Given the description of an element on the screen output the (x, y) to click on. 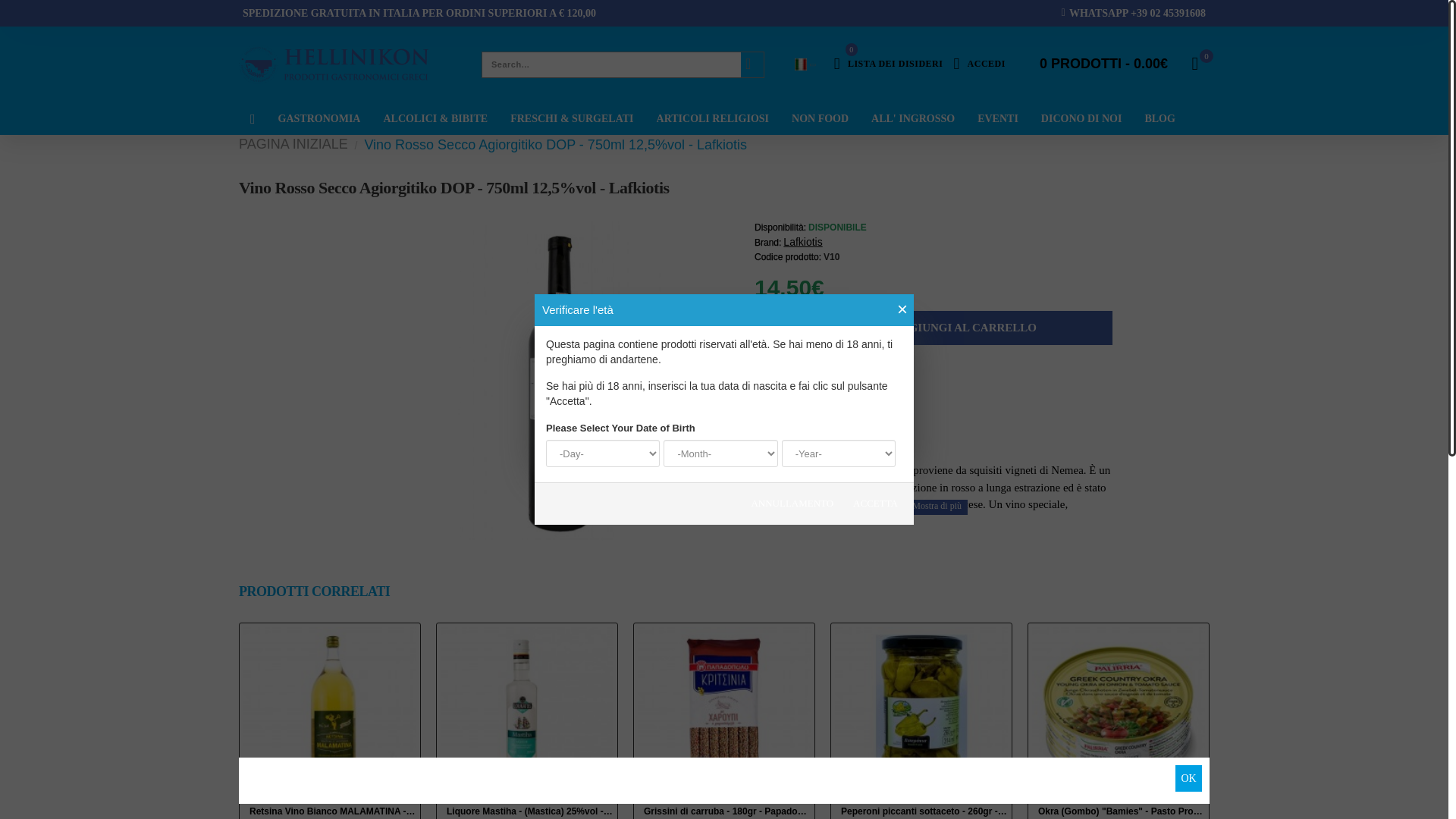
ITALIANO (800, 64)
GASTRONOMIA (888, 63)
ACCEDI (319, 118)
Grissini di carruba - 180gr - Papadopoulou (979, 63)
1 (723, 713)
Hellinikon (777, 327)
